Given the description of an element on the screen output the (x, y) to click on. 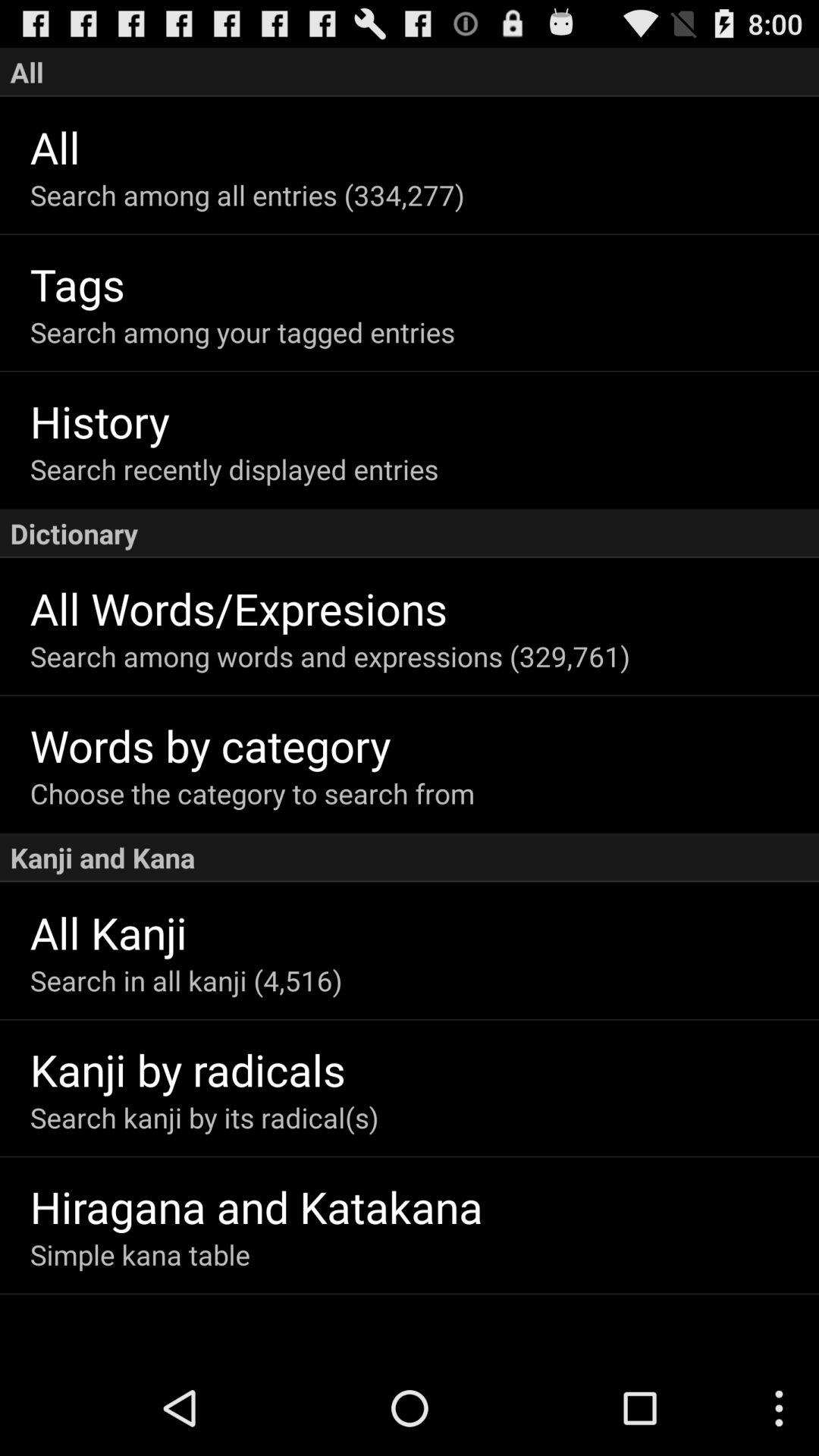
select item below the search among all item (424, 283)
